Given the description of an element on the screen output the (x, y) to click on. 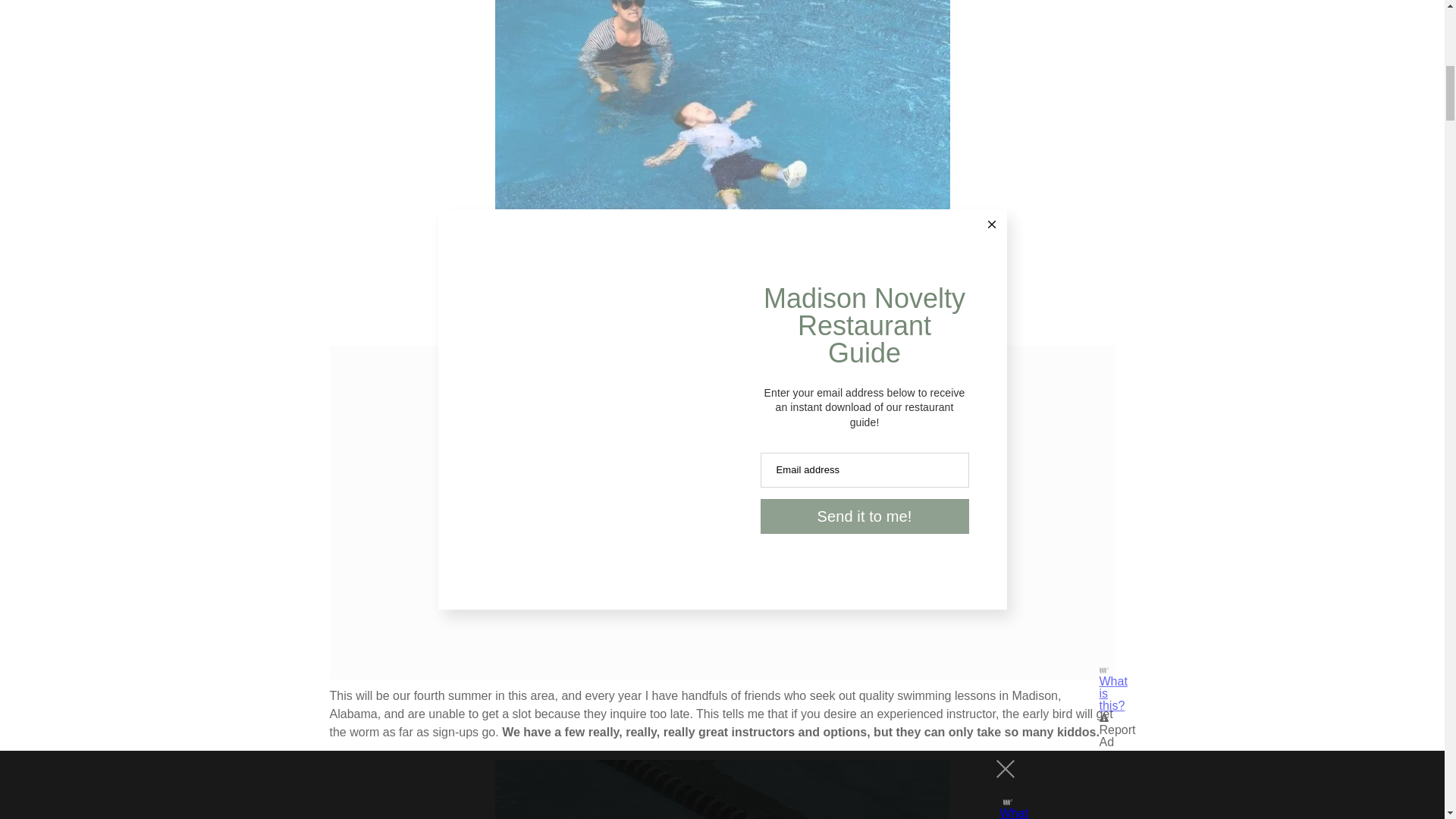
3rd party ad content (721, 364)
